Given the description of an element on the screen output the (x, y) to click on. 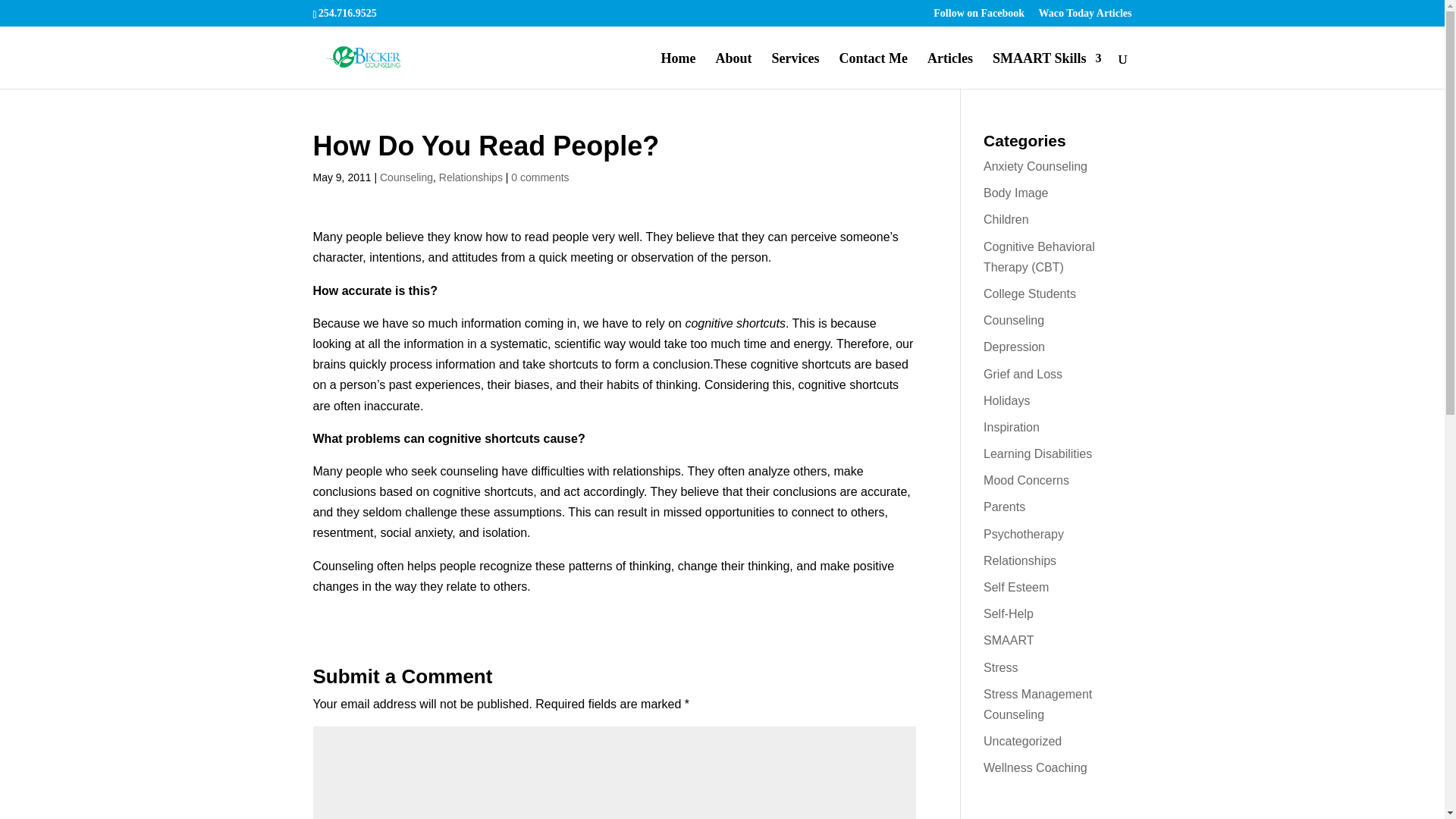
Counseling (406, 177)
Depression (1014, 346)
Waco Today Articles (1085, 16)
Body Image (1016, 192)
About (732, 70)
Counseling (1013, 319)
Anxiety Counseling (1035, 165)
Relationships (470, 177)
Parents (1004, 506)
Contact Me (872, 70)
0 comments (540, 177)
College Students (1029, 293)
Psychotherapy (1024, 533)
Follow on Facebook (979, 16)
Home (678, 70)
